Given the description of an element on the screen output the (x, y) to click on. 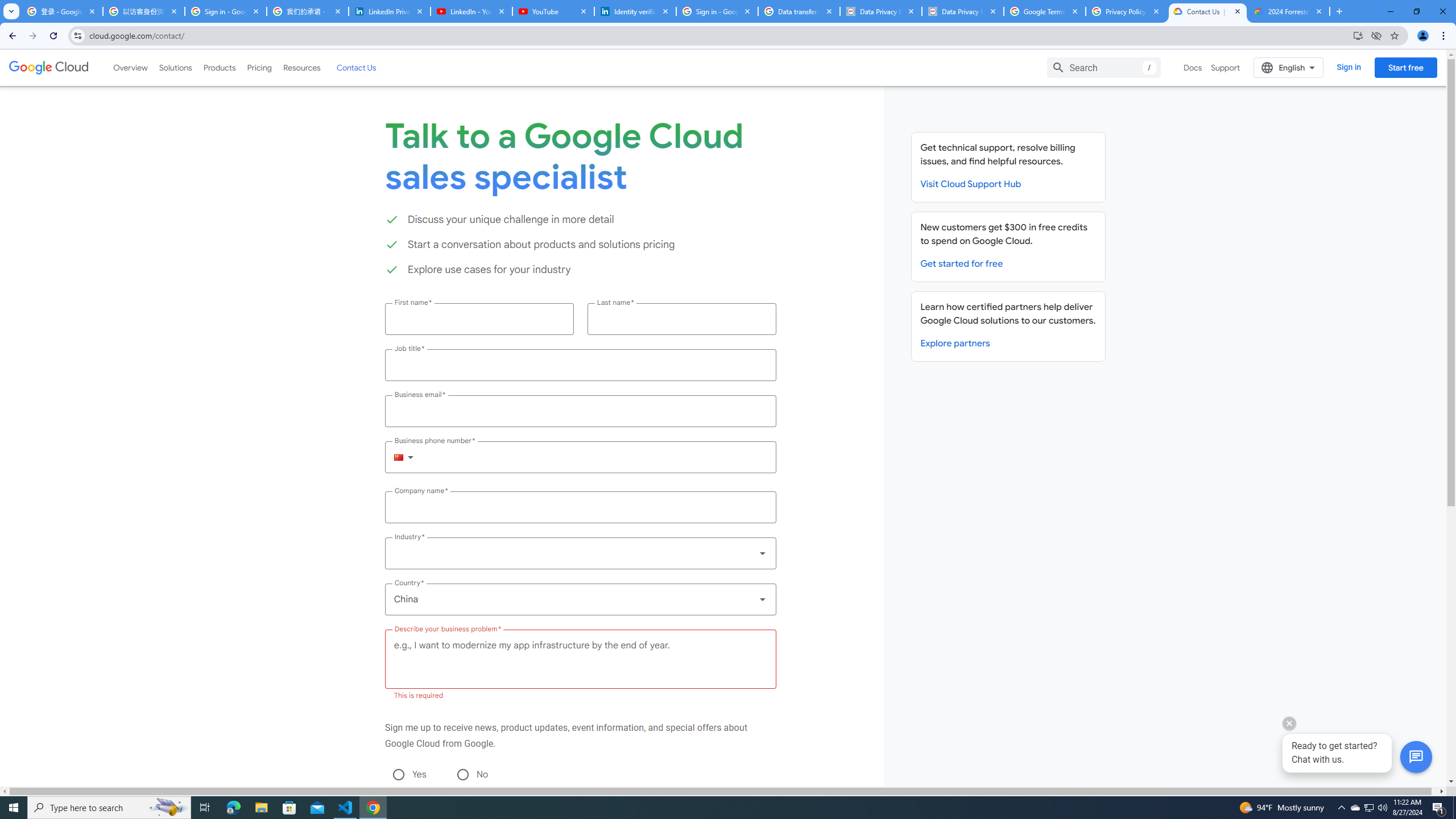
No (462, 773)
Contact Us (355, 67)
Docs (1192, 67)
Install Google Cloud (1358, 35)
Support (1225, 67)
Business email * (580, 411)
Button to activate chat (1416, 757)
Company name * (580, 507)
